Given the description of an element on the screen output the (x, y) to click on. 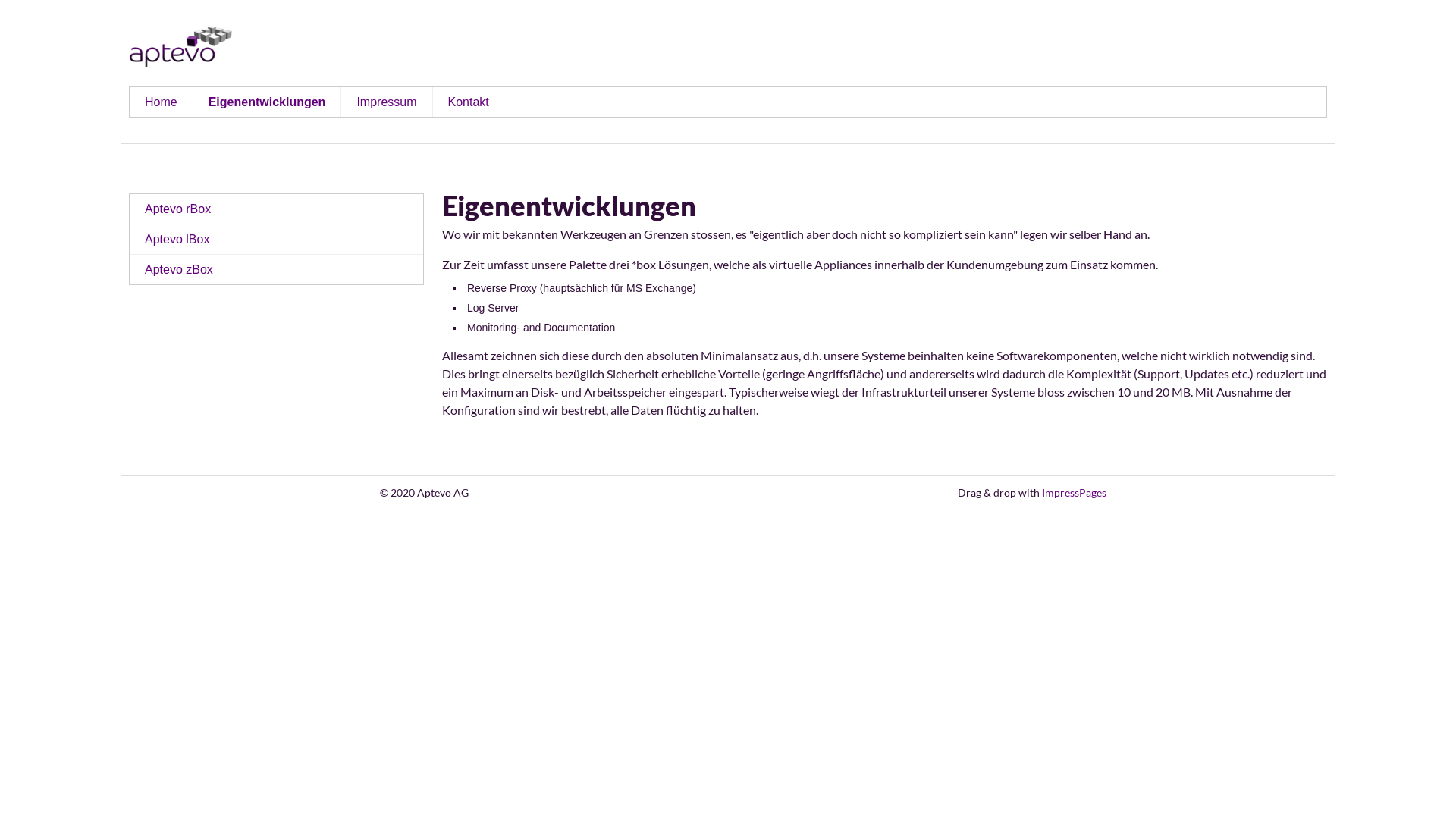
Kontakt Element type: text (467, 101)
Home Element type: text (160, 101)
Eigenentwicklungen Element type: text (267, 101)
Aptevo lBox Element type: text (276, 239)
ImpressPages Element type: text (1073, 492)
Aptevo zBox Element type: text (276, 269)
Aptevo rBox Element type: text (276, 208)
Impressum Element type: text (386, 101)
